Given the description of an element on the screen output the (x, y) to click on. 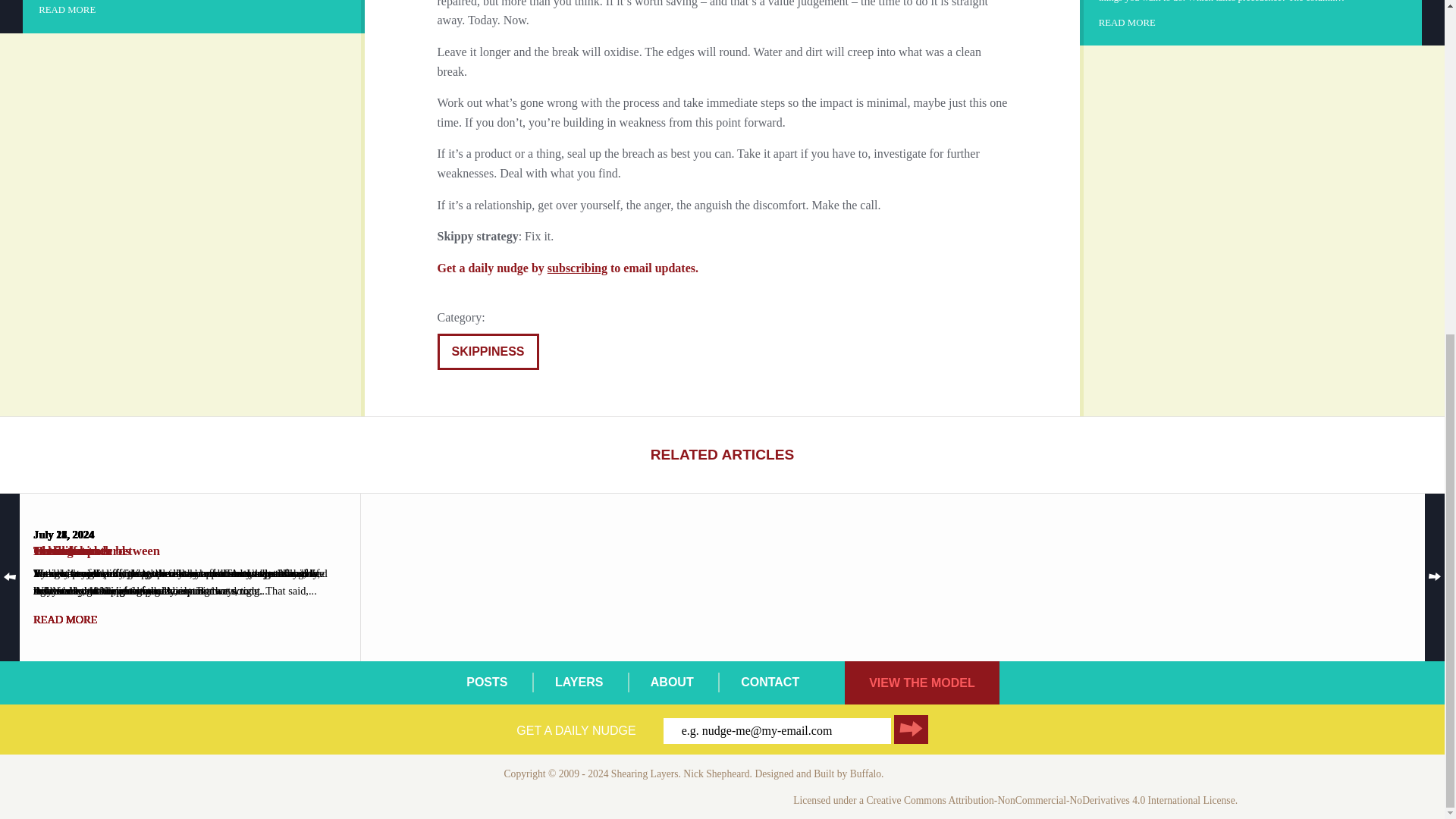
Creak, then crack (192, 7)
LAYERS (578, 681)
SKIPPINESS (487, 351)
subscribing (577, 267)
POSTS (485, 681)
ABOUT (672, 681)
Their team (180, 577)
VIEW THE MODEL (921, 682)
Column two (1252, 13)
CONTACT (770, 681)
